Given the description of an element on the screen output the (x, y) to click on. 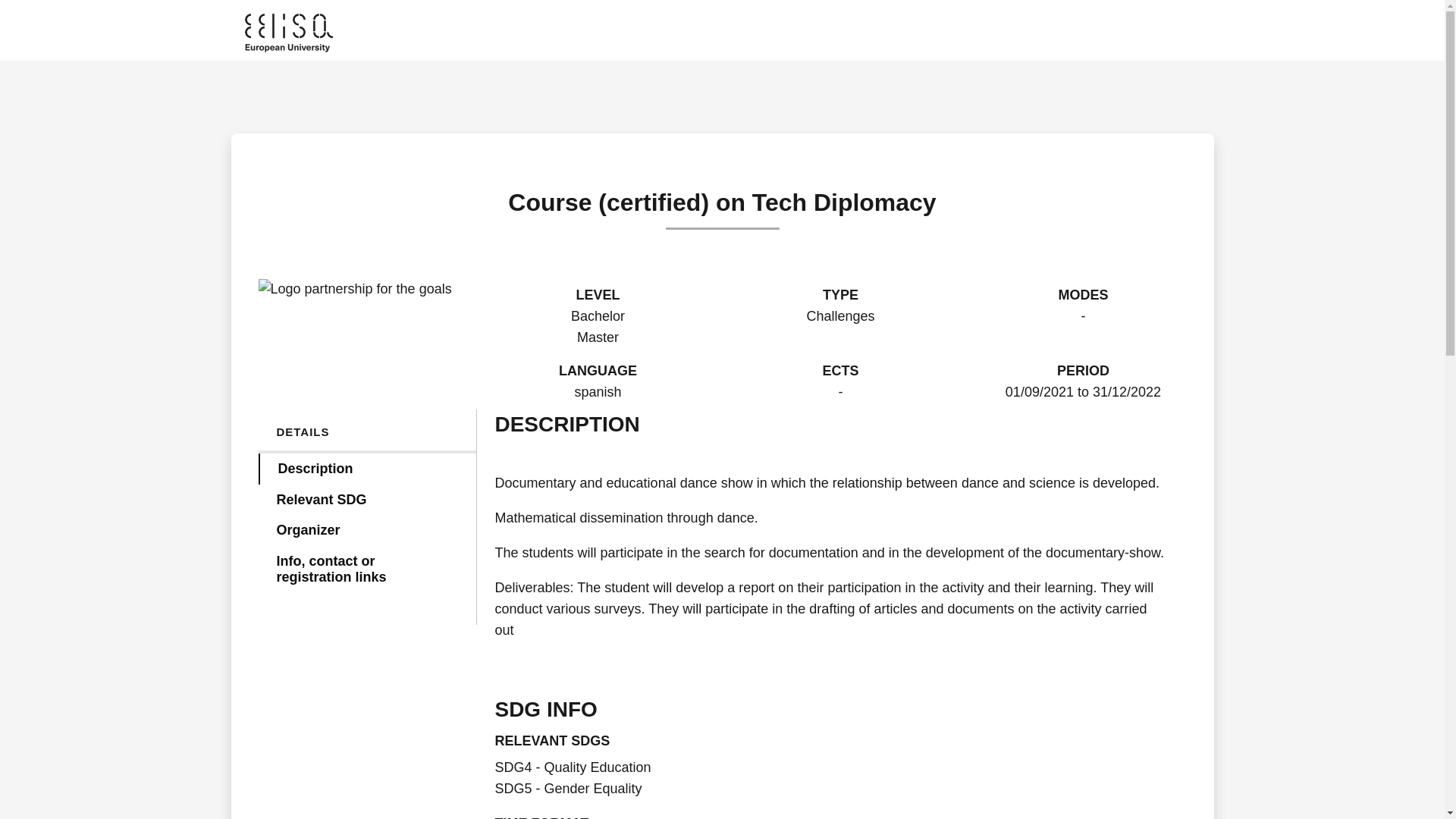
Relevant SDG   (366, 499)
Organizer (366, 531)
Description  (366, 468)
Logo partnership for the goals (354, 289)
Logo EELISA (287, 32)
Info, contact or registration links (366, 569)
